Given the description of an element on the screen output the (x, y) to click on. 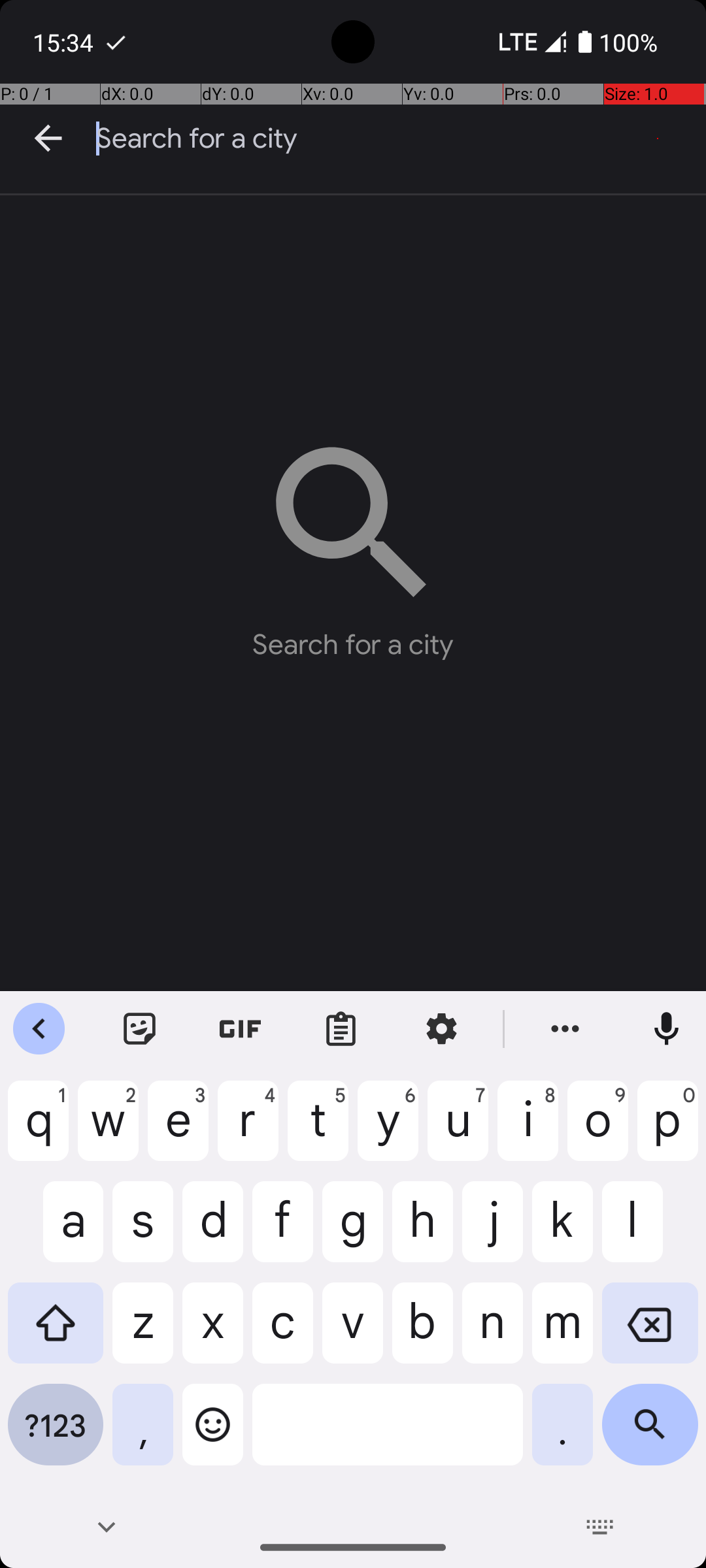
Search for a city Element type: android.widget.EditText (401, 138)
